Given the description of an element on the screen output the (x, y) to click on. 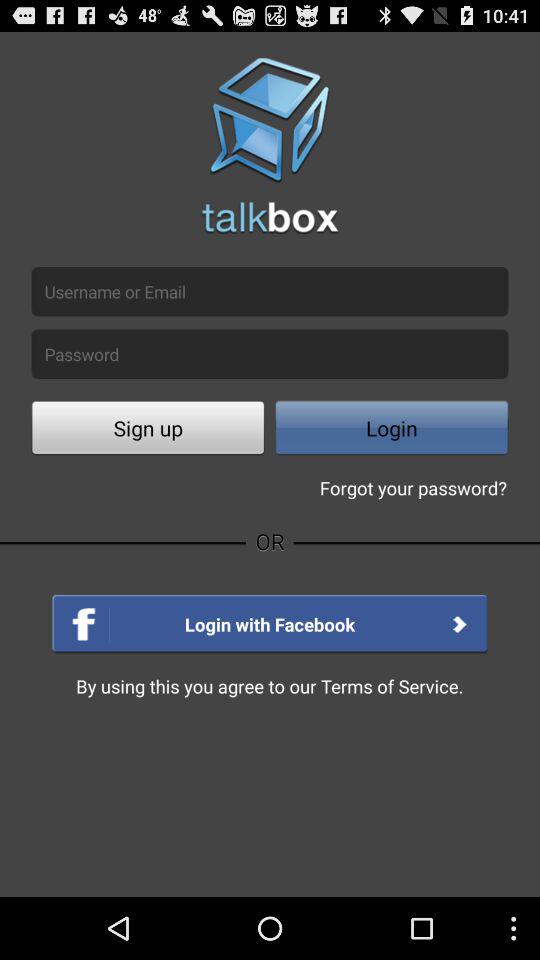
turn off button to the left of login icon (148, 430)
